Given the description of an element on the screen output the (x, y) to click on. 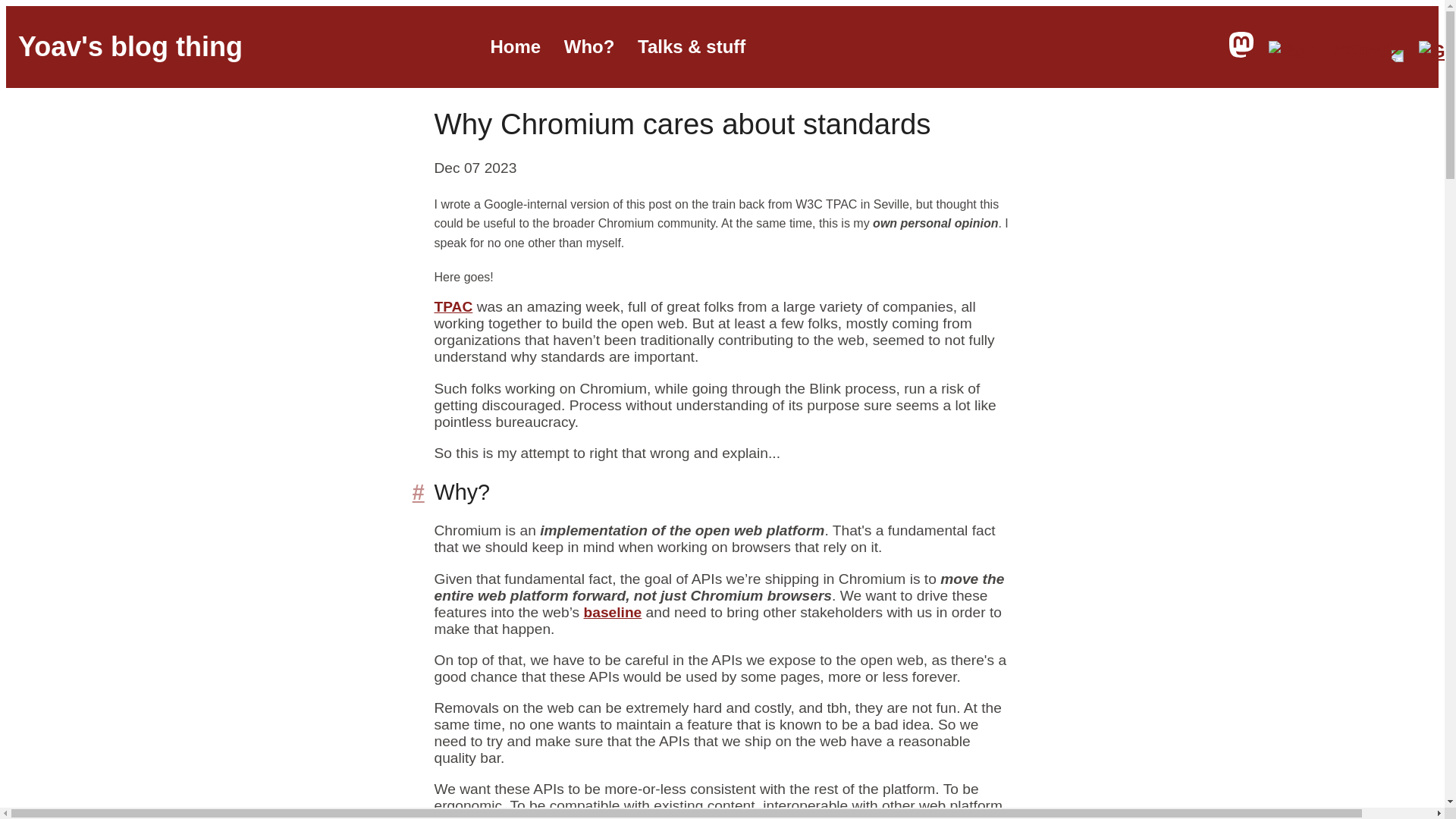
baseline (612, 611)
Yoav's blog thing (130, 46)
Who? (589, 46)
TPAC (452, 306)
Home (514, 46)
Ladybird (882, 816)
